Given the description of an element on the screen output the (x, y) to click on. 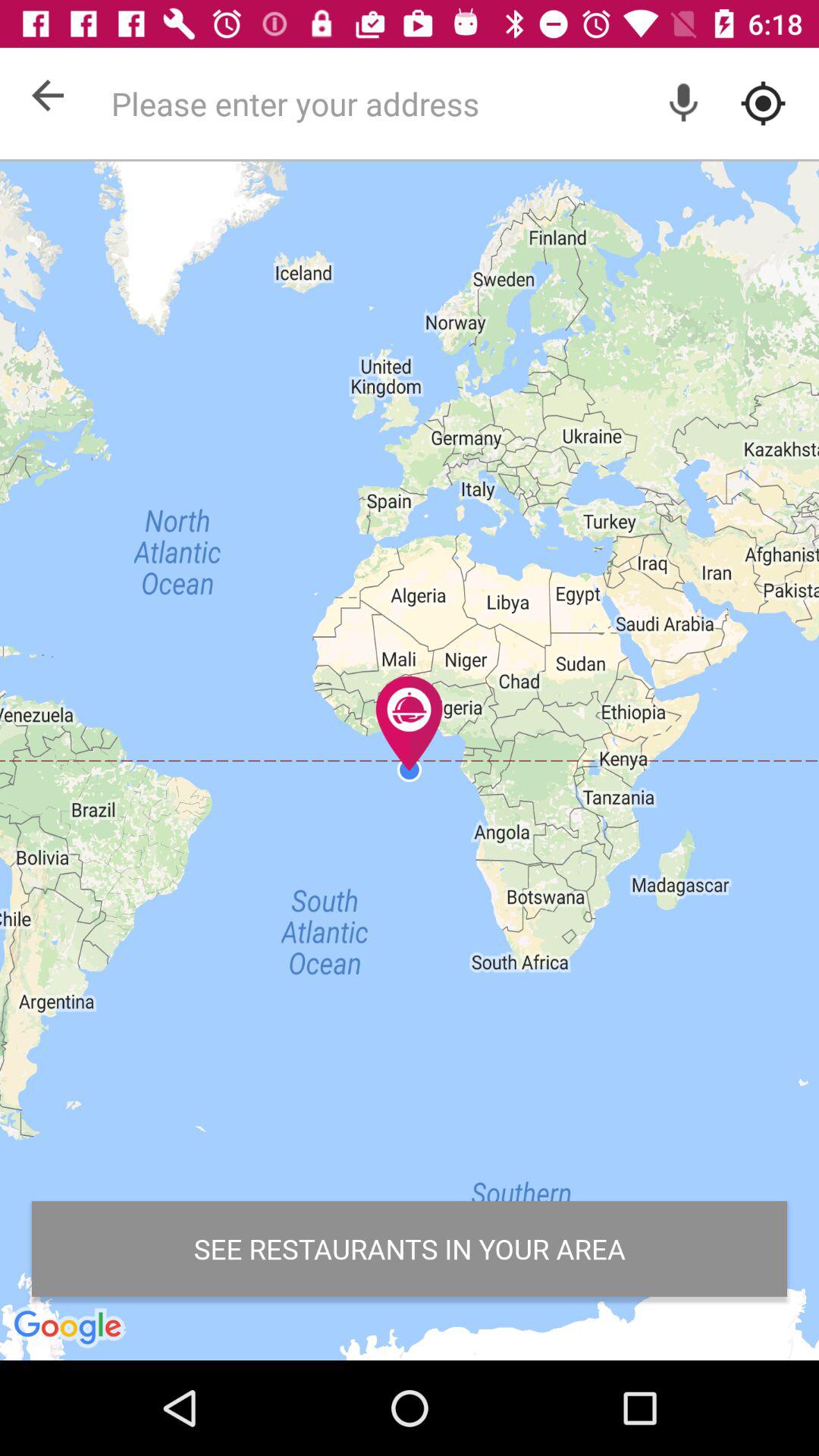
get current location (763, 103)
